Given the description of an element on the screen output the (x, y) to click on. 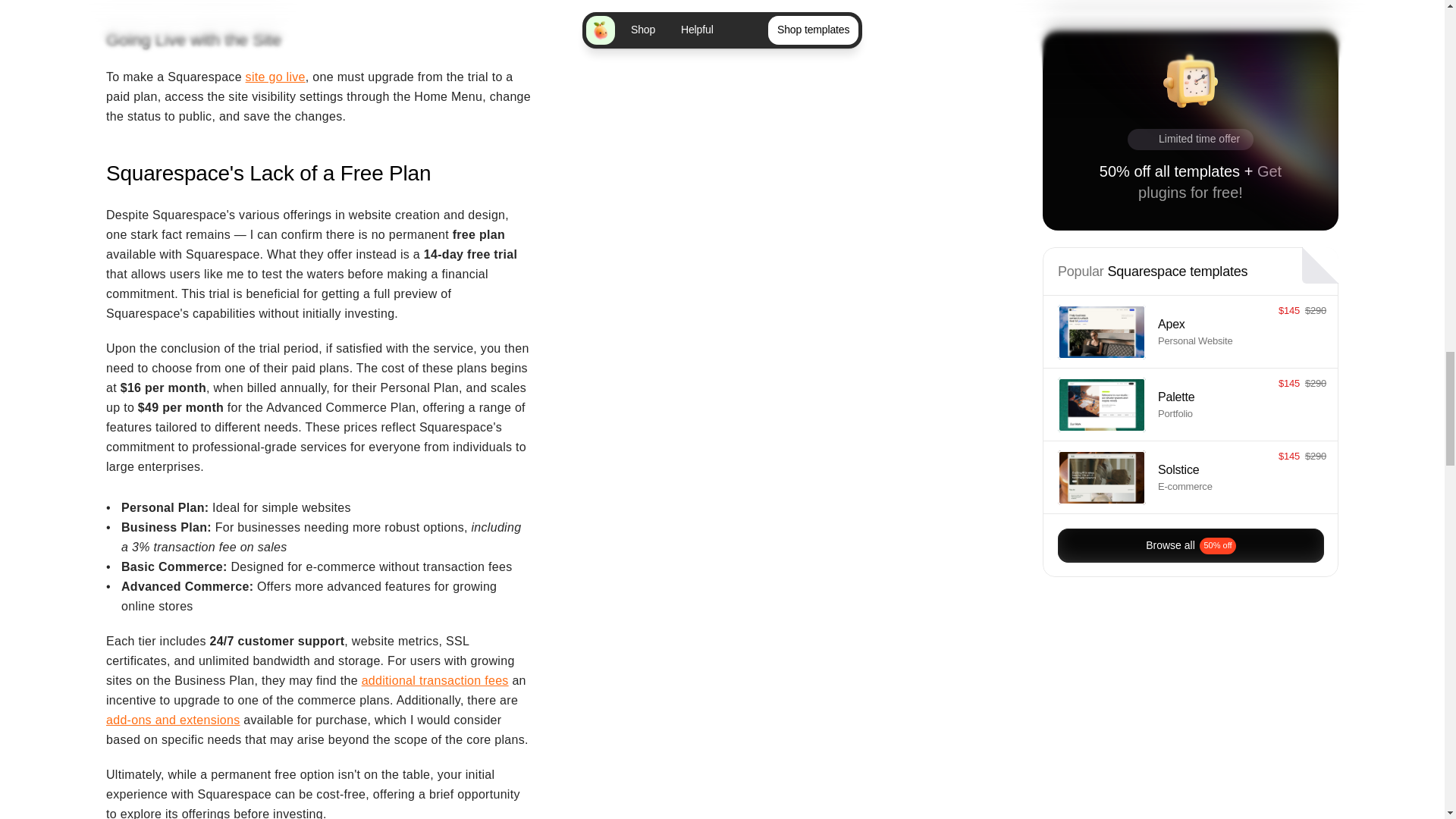
add-ons and extensions (173, 719)
site go live (275, 76)
additional transaction fees (434, 680)
